Given the description of an element on the screen output the (x, y) to click on. 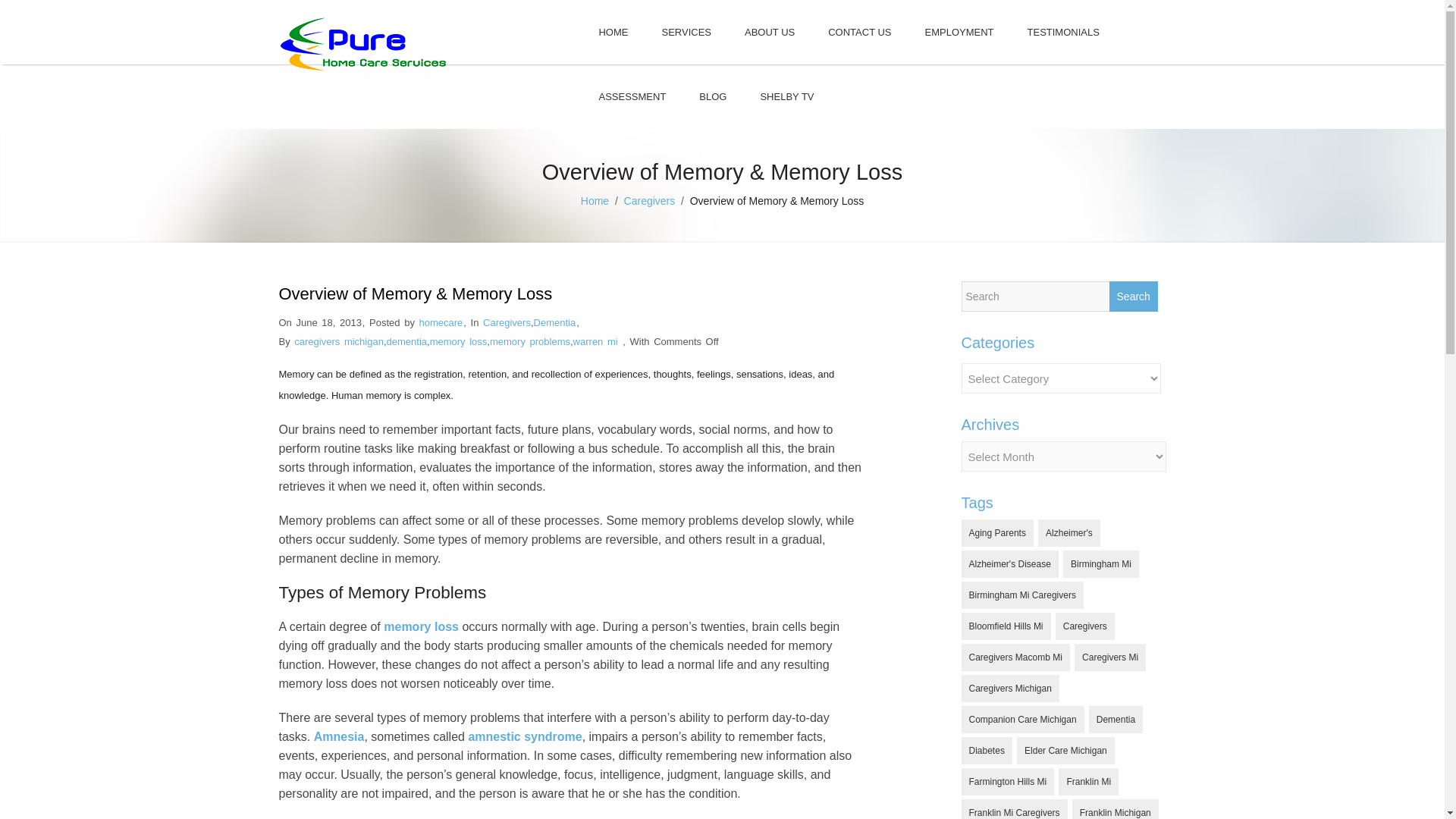
Farmington Hills Mi (1007, 781)
EMPLOYMENT (959, 32)
Caregivers (1085, 625)
homecare (441, 322)
Elder Care Michigan (1065, 750)
Alzheimer'S Disease (1009, 564)
Diabetes (985, 750)
Caregivers Macomb Mi (1015, 656)
caregivers michigan (339, 341)
Posts by homecare (441, 322)
